Given the description of an element on the screen output the (x, y) to click on. 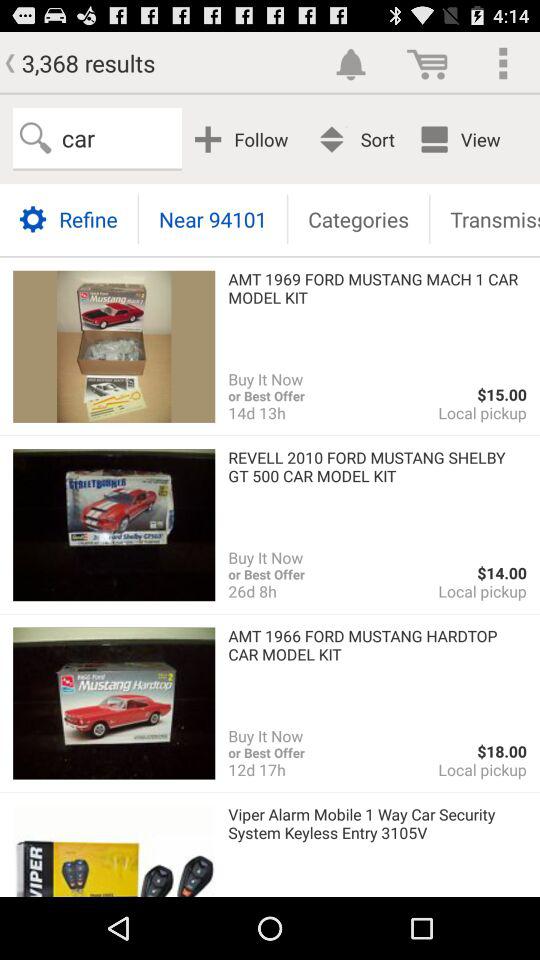
turn off transmission icon (485, 218)
